Given the description of an element on the screen output the (x, y) to click on. 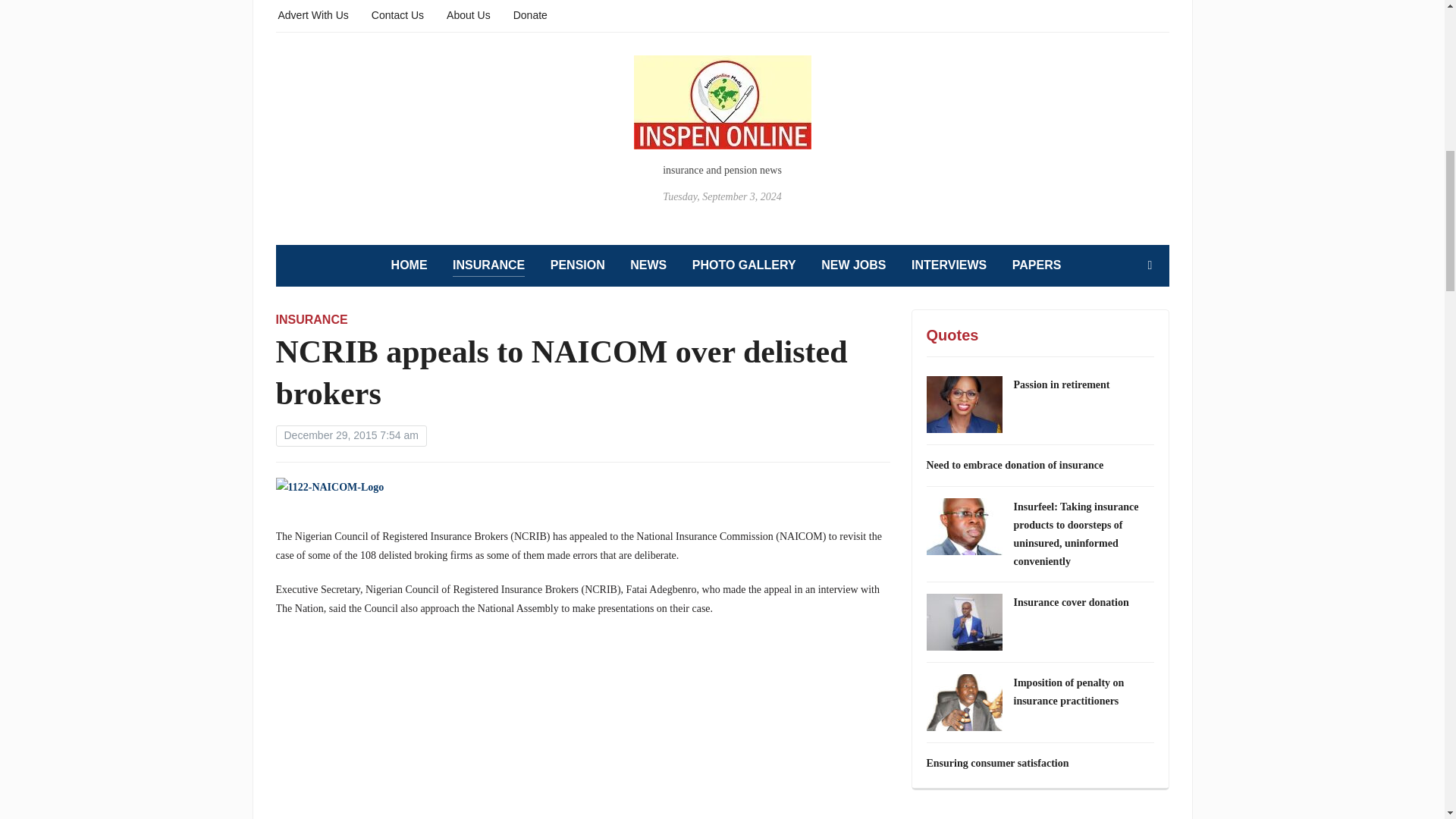
About Us (468, 14)
PAPERS (1036, 265)
Search (1149, 265)
PENSION (577, 265)
INSURANCE (311, 318)
Contact Us (397, 14)
Passion in retirement (1061, 384)
PHOTO GALLERY (744, 265)
INSURANCE (488, 265)
NEWS (648, 265)
